Given the description of an element on the screen output the (x, y) to click on. 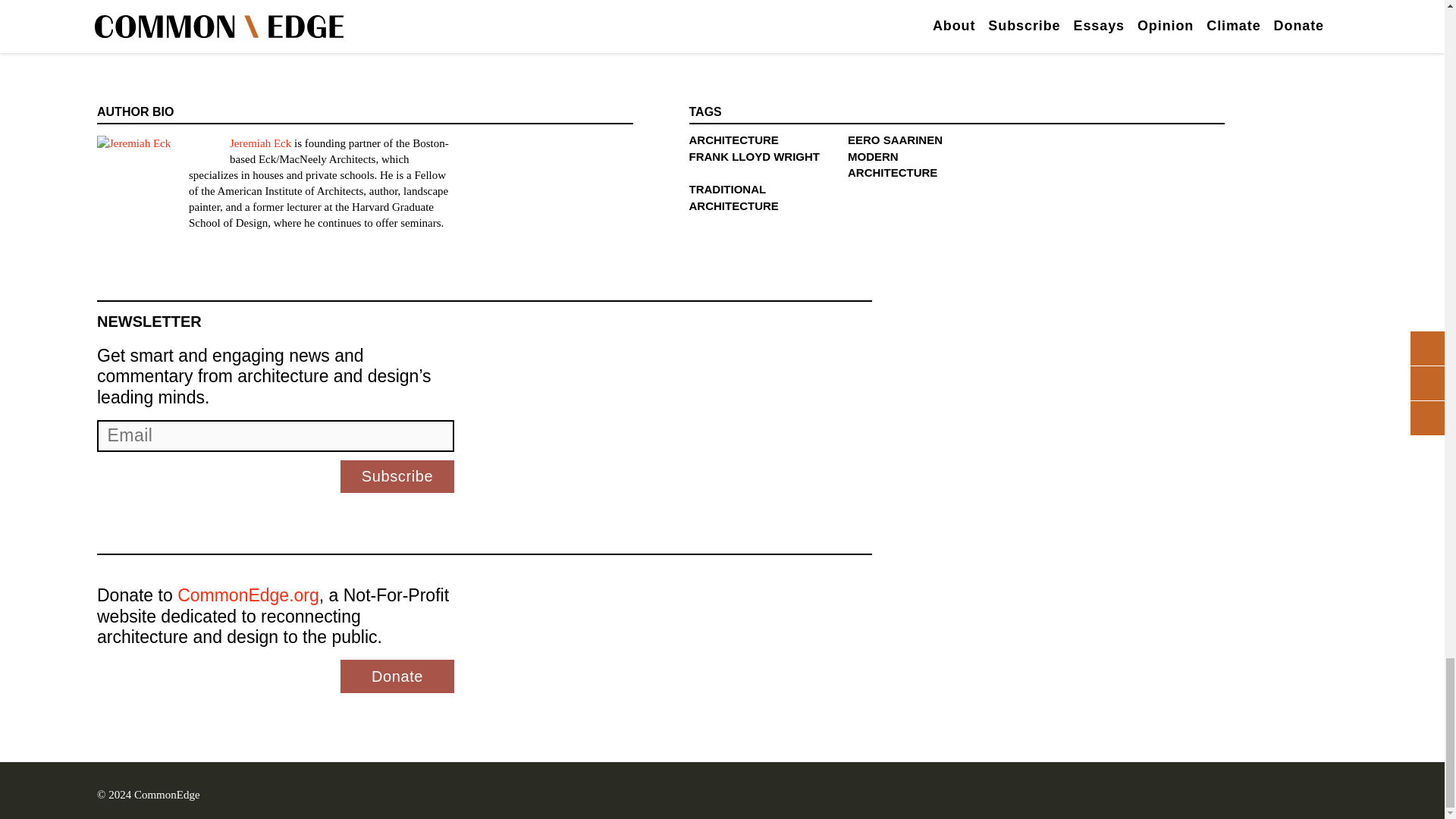
Jeremiah Eck (260, 143)
EERO SAARINEN (894, 139)
TRADITIONAL ARCHITECTURE (732, 197)
MODERN ARCHITECTURE (892, 164)
ARCHITECTURE (732, 139)
Donate (397, 676)
Subscribe (397, 476)
Subscribe (397, 476)
FRANK LLOYD WRIGHT (753, 155)
